Given the description of an element on the screen output the (x, y) to click on. 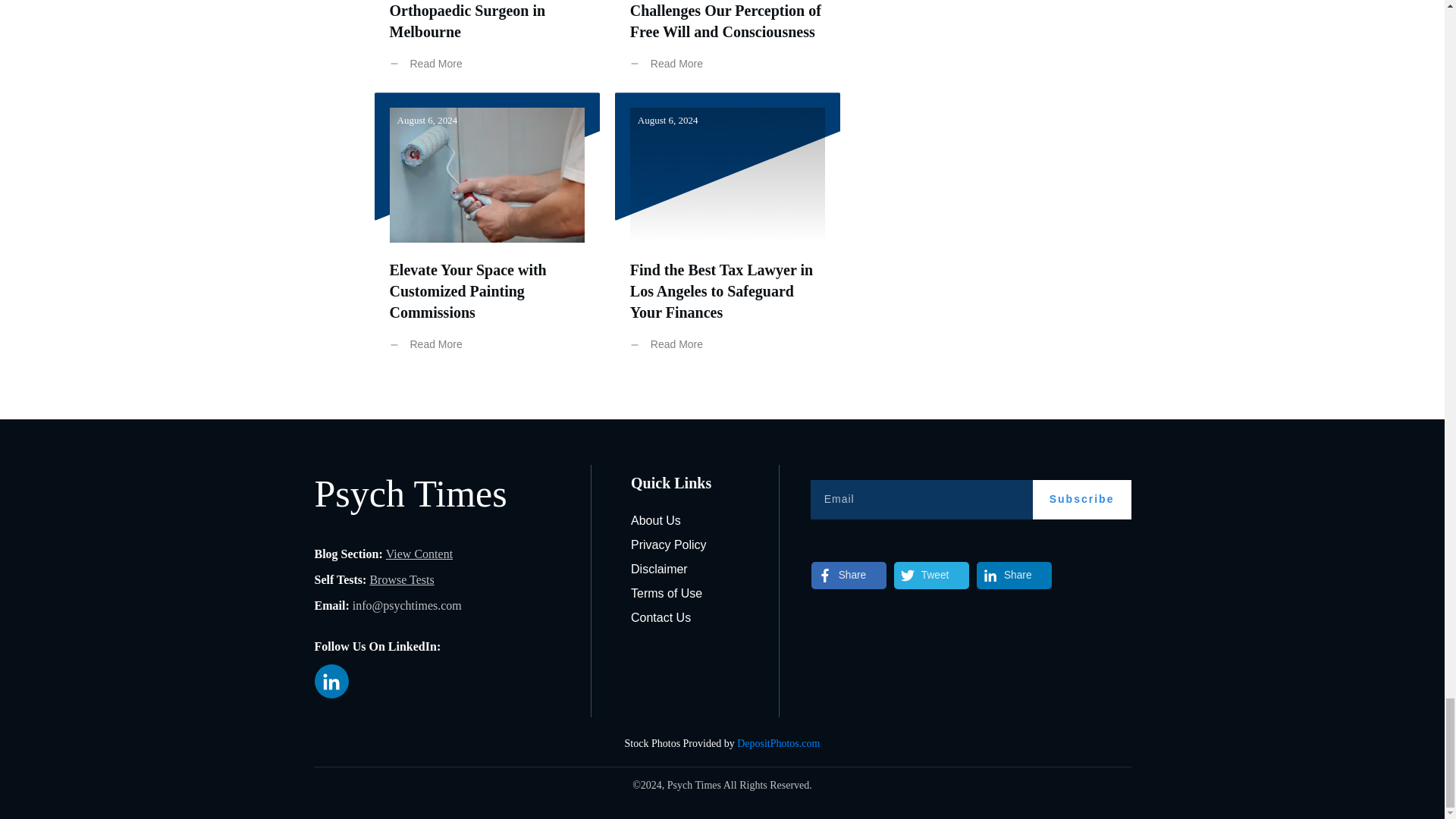
How to Find the Right Orthopaedic Surgeon in Melbourne (468, 20)
Elevate Your Space with Customized Painting Commissions (468, 291)
